Given the description of an element on the screen output the (x, y) to click on. 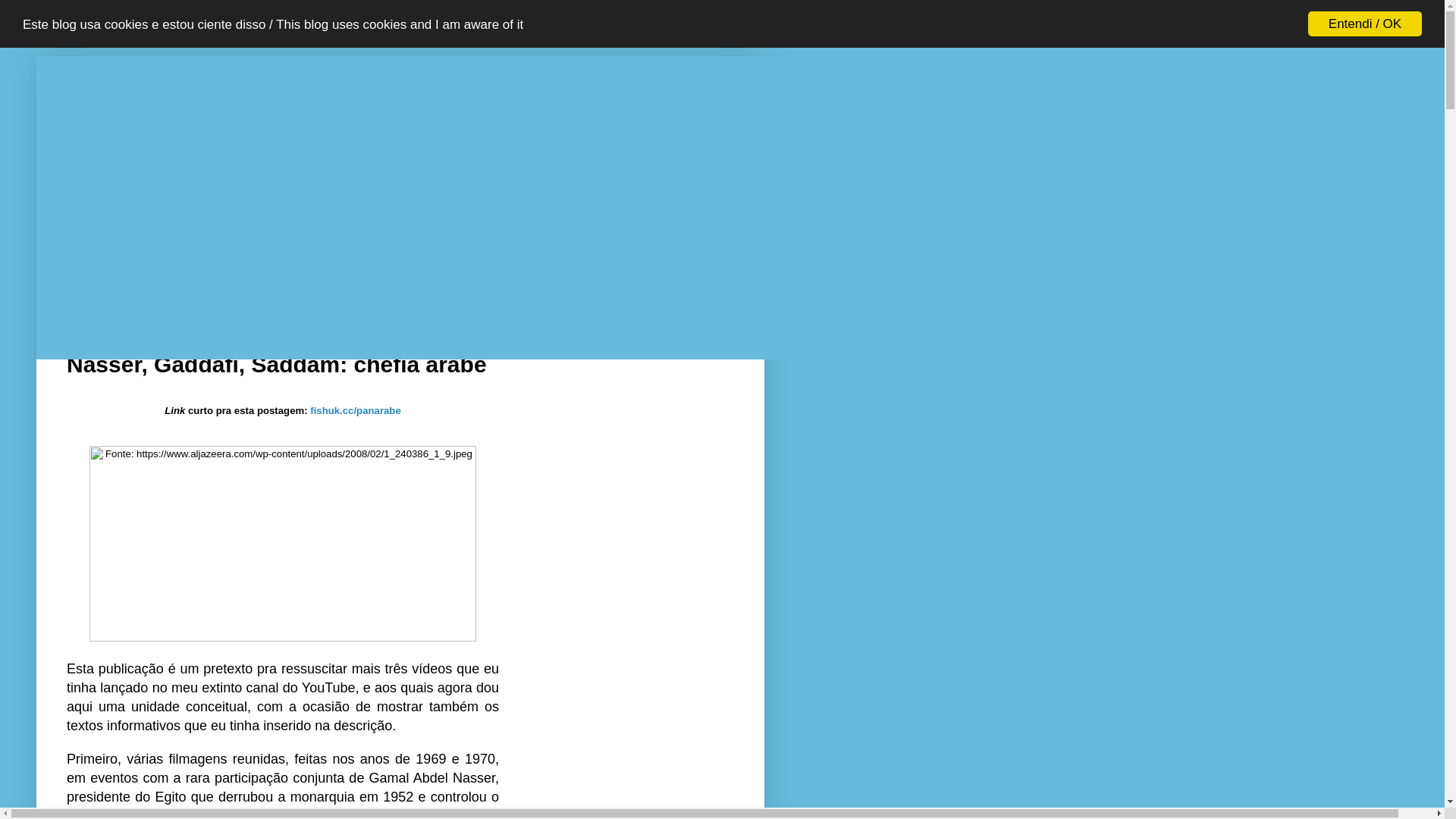
fishuk.cc/panarabe Element type: text (355, 410)
Entendi / OK Element type: text (1364, 23)
